Given the description of an element on the screen output the (x, y) to click on. 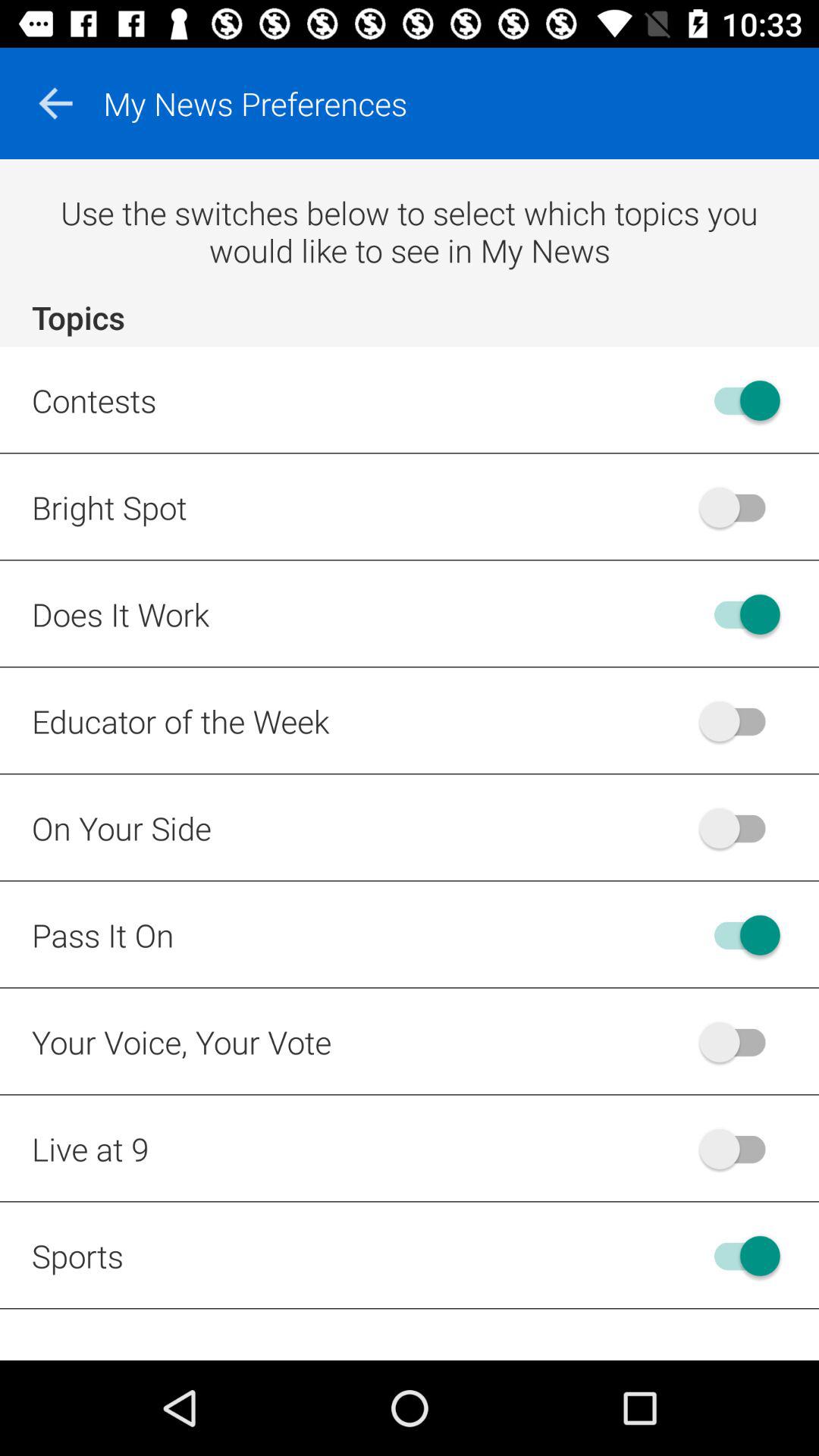
launch the item next to my news preferences (55, 103)
